Given the description of an element on the screen output the (x, y) to click on. 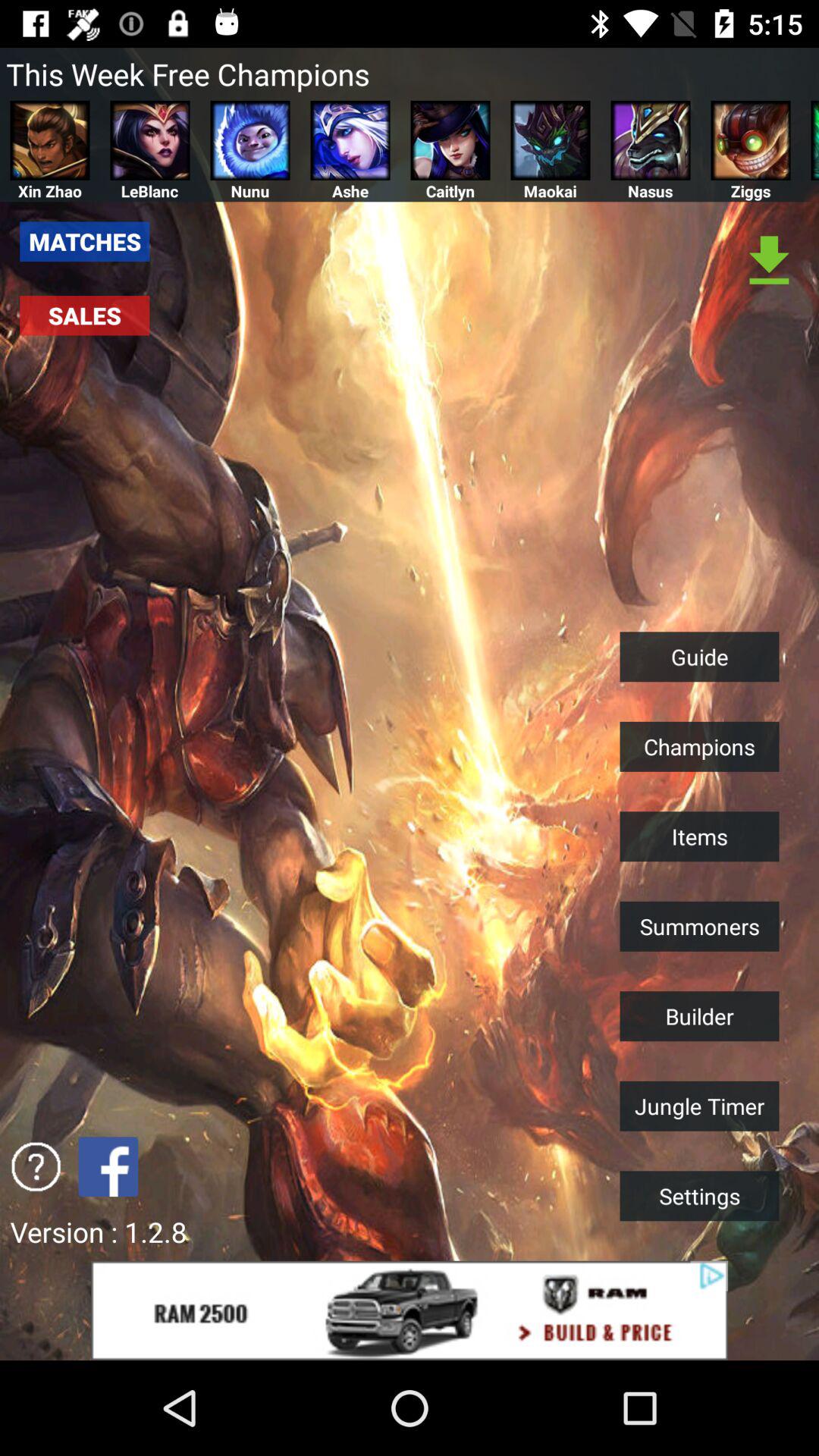
go back facebook option (108, 1166)
